Given the description of an element on the screen output the (x, y) to click on. 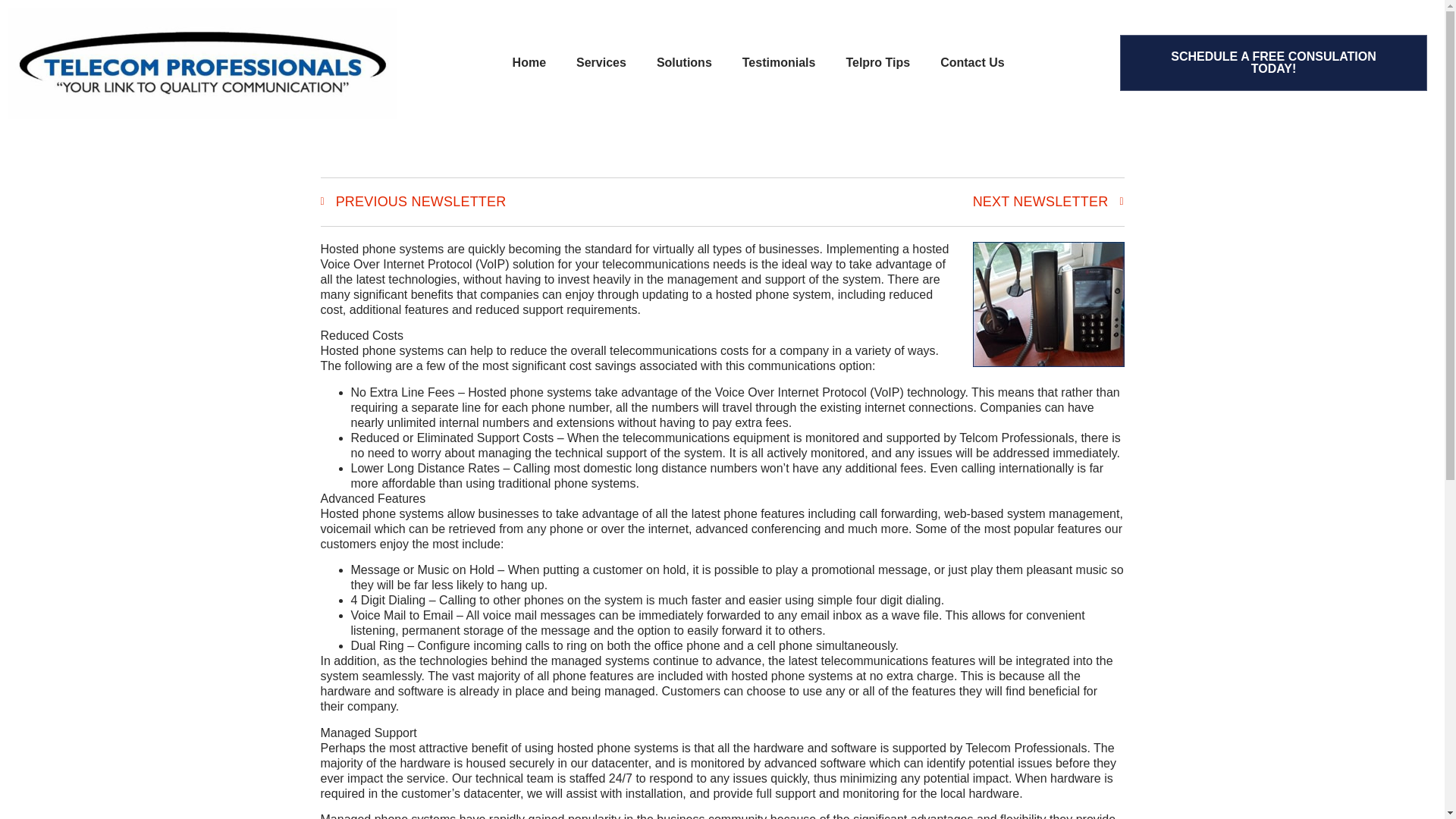
Home (528, 63)
PREVIOUS NEWSLETTER (521, 201)
Testimonials (778, 63)
NEXT NEWSLETTER (923, 201)
Services (601, 63)
Telpro Tips (876, 63)
Solutions (684, 63)
Contact Us (971, 63)
SCHEDULE A FREE CONSULATION TODAY! (1272, 62)
